Given the description of an element on the screen output the (x, y) to click on. 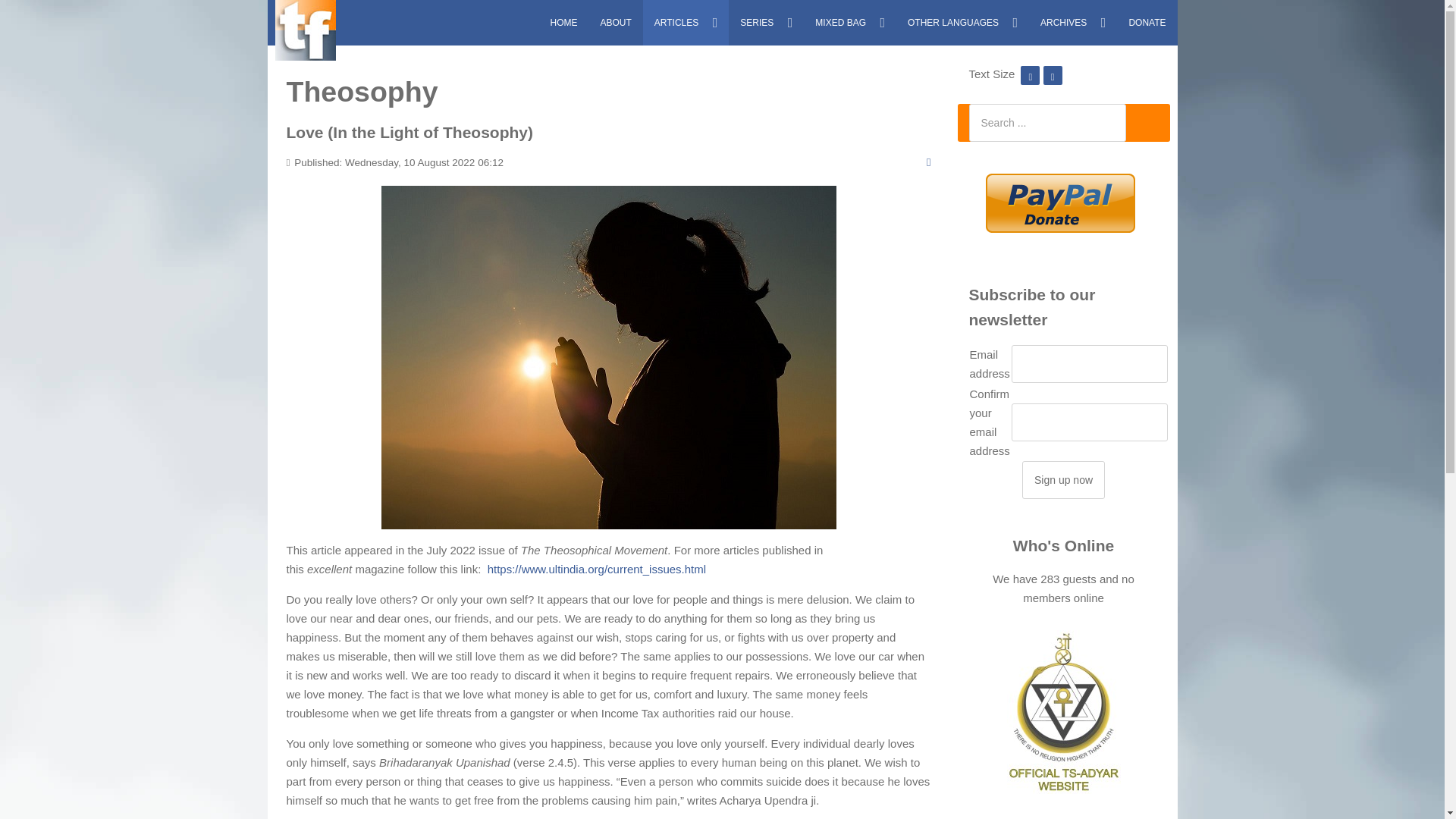
MIXED BAG (849, 22)
DONATE (1146, 22)
Increase Font Size (1052, 73)
SERIES (766, 22)
ARTICLES (686, 22)
OTHER LANGUAGES (962, 22)
Decrease Font Size (1029, 73)
Sign up now (1063, 479)
HOME (563, 22)
ABOUT (615, 22)
ARCHIVES (1072, 22)
Sign up now (1063, 479)
